Given the description of an element on the screen output the (x, y) to click on. 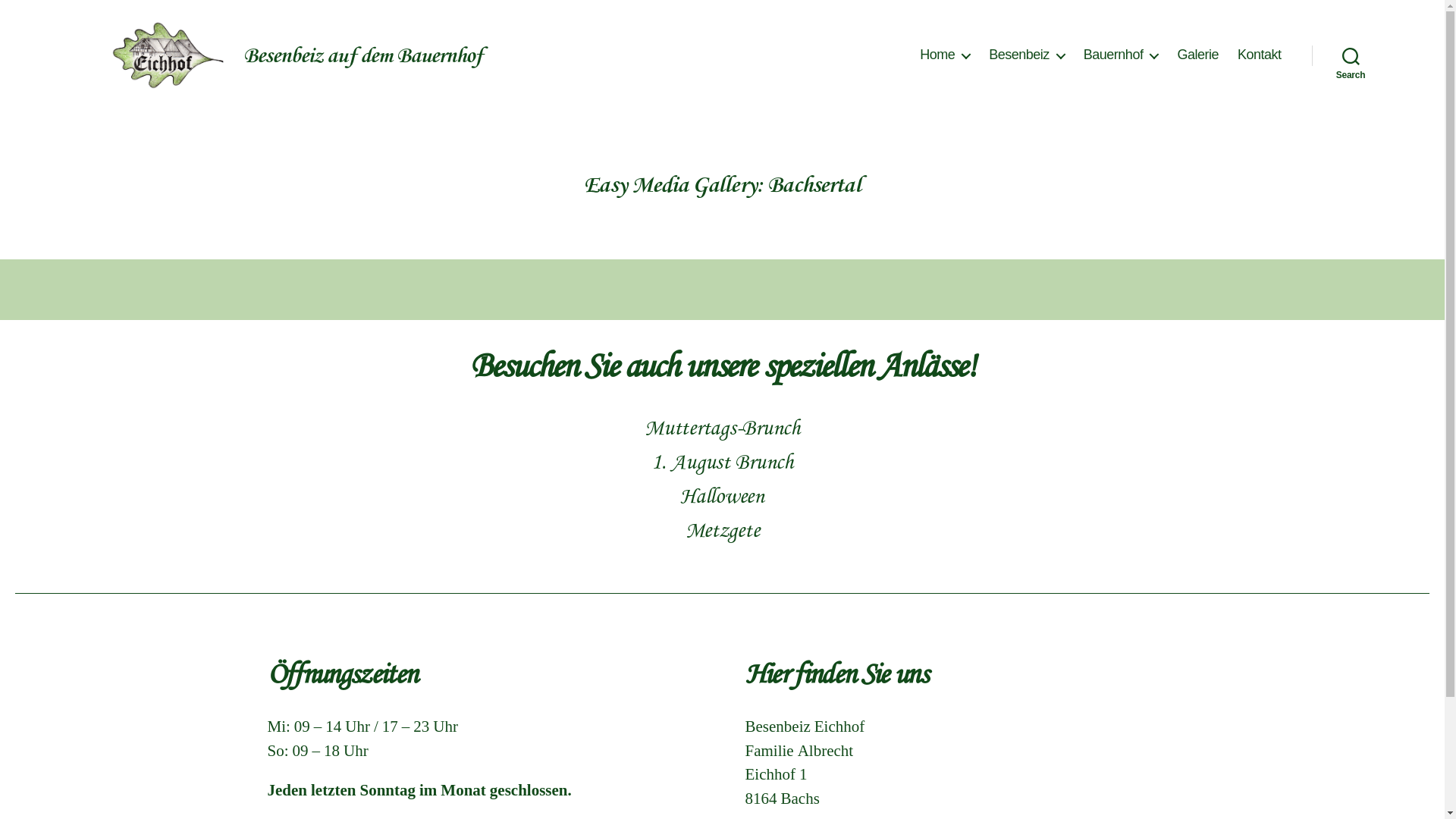
Besenbeiz Element type: text (1026, 55)
Search Element type: text (1350, 55)
Bauernhof Element type: text (1120, 55)
Kontakt Element type: text (1259, 55)
Galerie Element type: text (1197, 55)
Home Element type: text (944, 55)
